Given the description of an element on the screen output the (x, y) to click on. 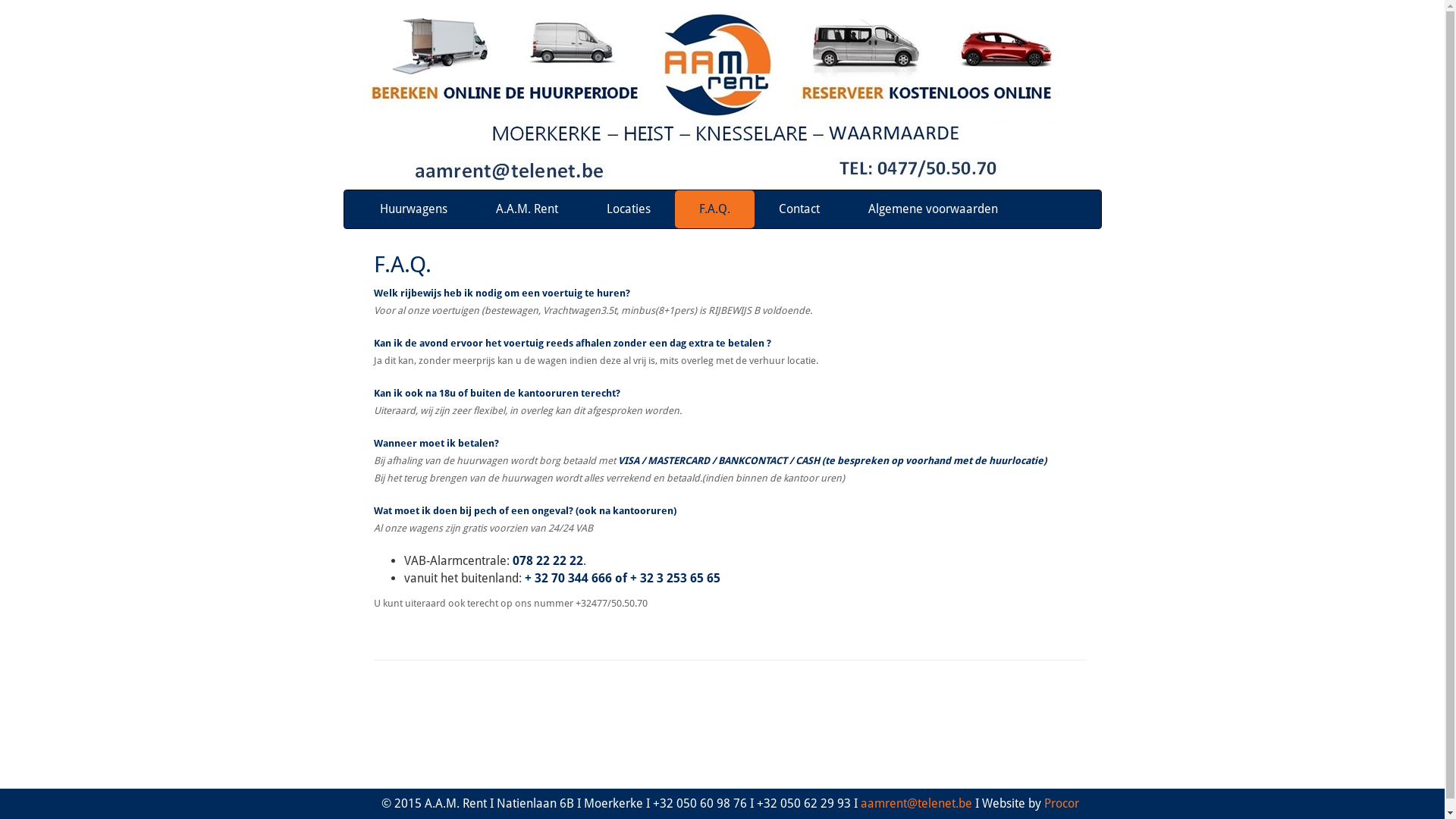
Procor Element type: text (1060, 803)
A.A.M. Rent Element type: text (526, 209)
aamrent@telenet.be Element type: text (915, 803)
Huurwagens Element type: text (412, 209)
Algemene voorwaarden Element type: text (932, 209)
Locaties Element type: text (628, 209)
Contact Element type: text (798, 209)
F.A.Q. Element type: text (714, 209)
